Given the description of an element on the screen output the (x, y) to click on. 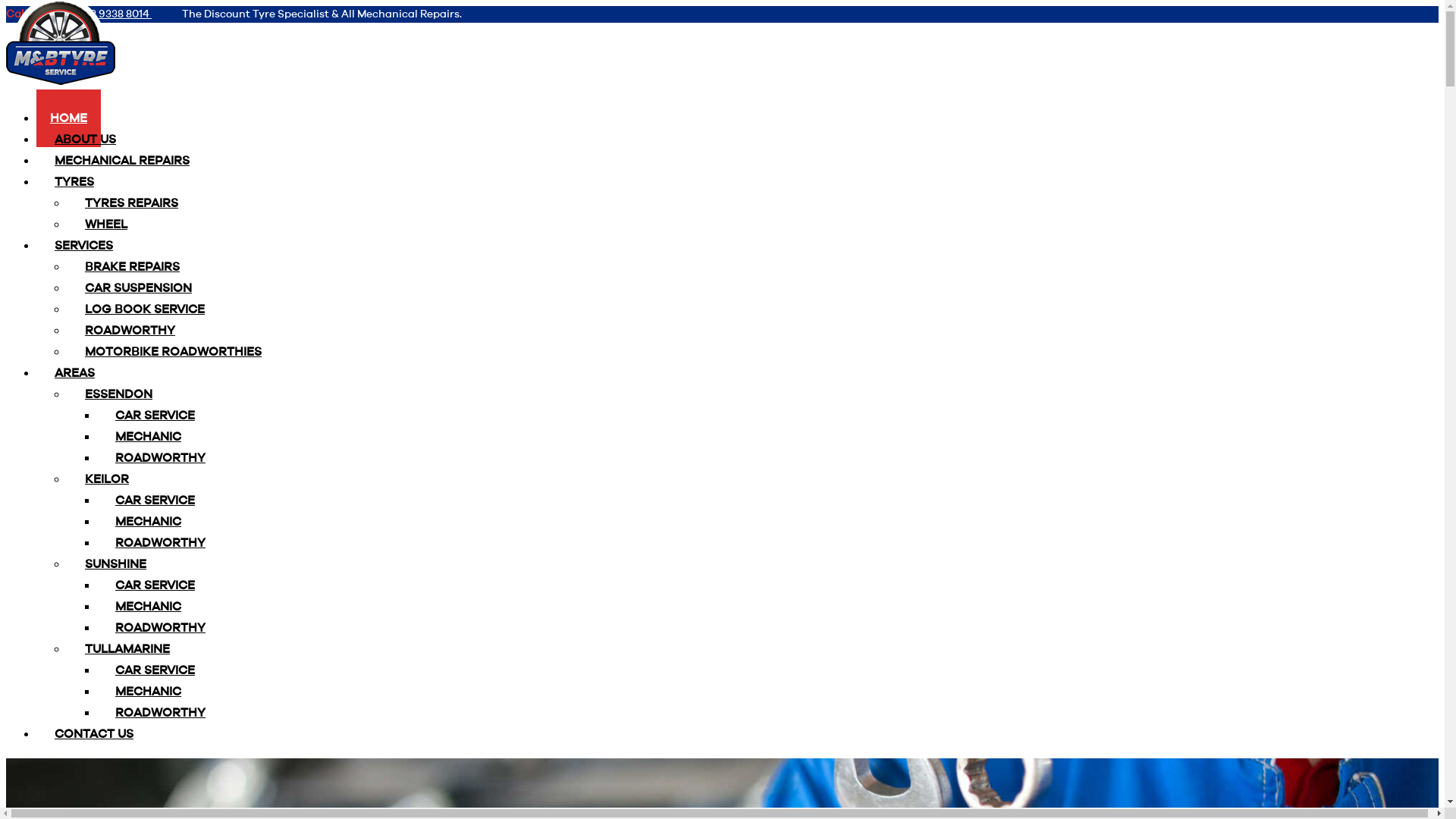
ROADWORTHY Element type: text (160, 627)
LOG BOOK SERVICE Element type: text (144, 309)
TYRES REPAIRS Element type: text (131, 203)
ROADWORTHY Element type: text (160, 457)
MECHANICAL REPAIRS Element type: text (121, 160)
03 9338 8014 Element type: text (117, 14)
CAR SERVICE Element type: text (155, 585)
KEILOR Element type: text (106, 479)
CAR SERVICE Element type: text (155, 670)
CAR SERVICE Element type: text (155, 415)
CONTACT US Element type: text (93, 734)
MECHANIC Element type: text (148, 606)
SERVICES Element type: text (83, 245)
CAR SERVICE Element type: text (155, 500)
MECHANIC Element type: text (148, 436)
Skip to content Element type: text (5, 5)
HOME Element type: text (68, 118)
MOTORBIKE ROADWORTHIES Element type: text (172, 351)
M&B Tyre Service Element type: hover (60, 52)
SUNSHINE Element type: text (115, 564)
ABOUT US Element type: text (85, 139)
WHEEL Element type: text (105, 224)
ESSENDON Element type: text (118, 394)
TULLAMARINE Element type: text (127, 649)
ROADWORTHY Element type: text (160, 542)
BRAKE REPAIRS Element type: text (131, 266)
CAR SUSPENSION Element type: text (138, 288)
AREAS Element type: text (74, 373)
ROADWORTHY Element type: text (160, 712)
TYRES Element type: text (74, 181)
ROADWORTHY Element type: text (129, 330)
MECHANIC Element type: text (148, 691)
MECHANIC Element type: text (148, 521)
